Given the description of an element on the screen output the (x, y) to click on. 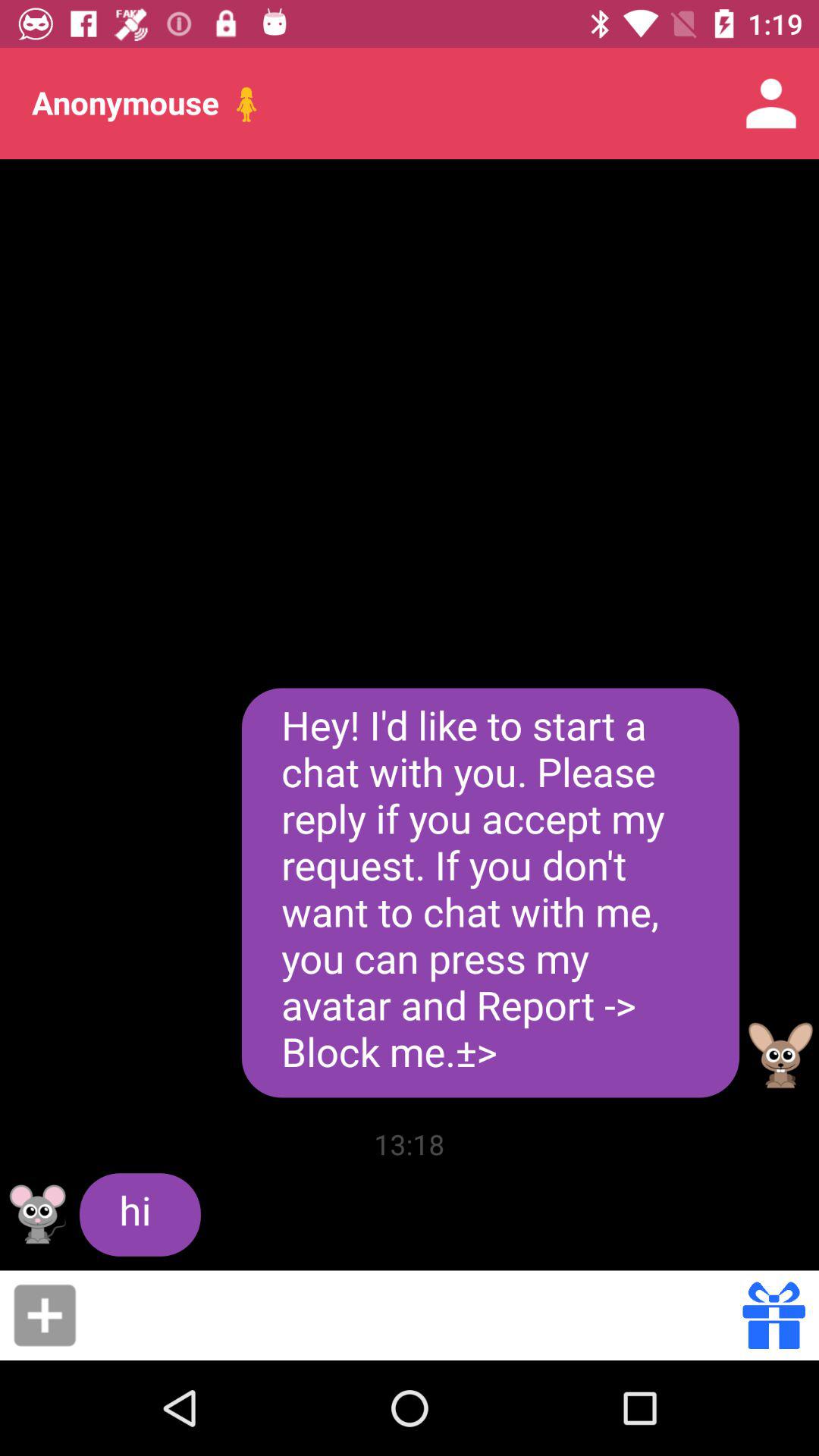
open user profile (780, 1055)
